Given the description of an element on the screen output the (x, y) to click on. 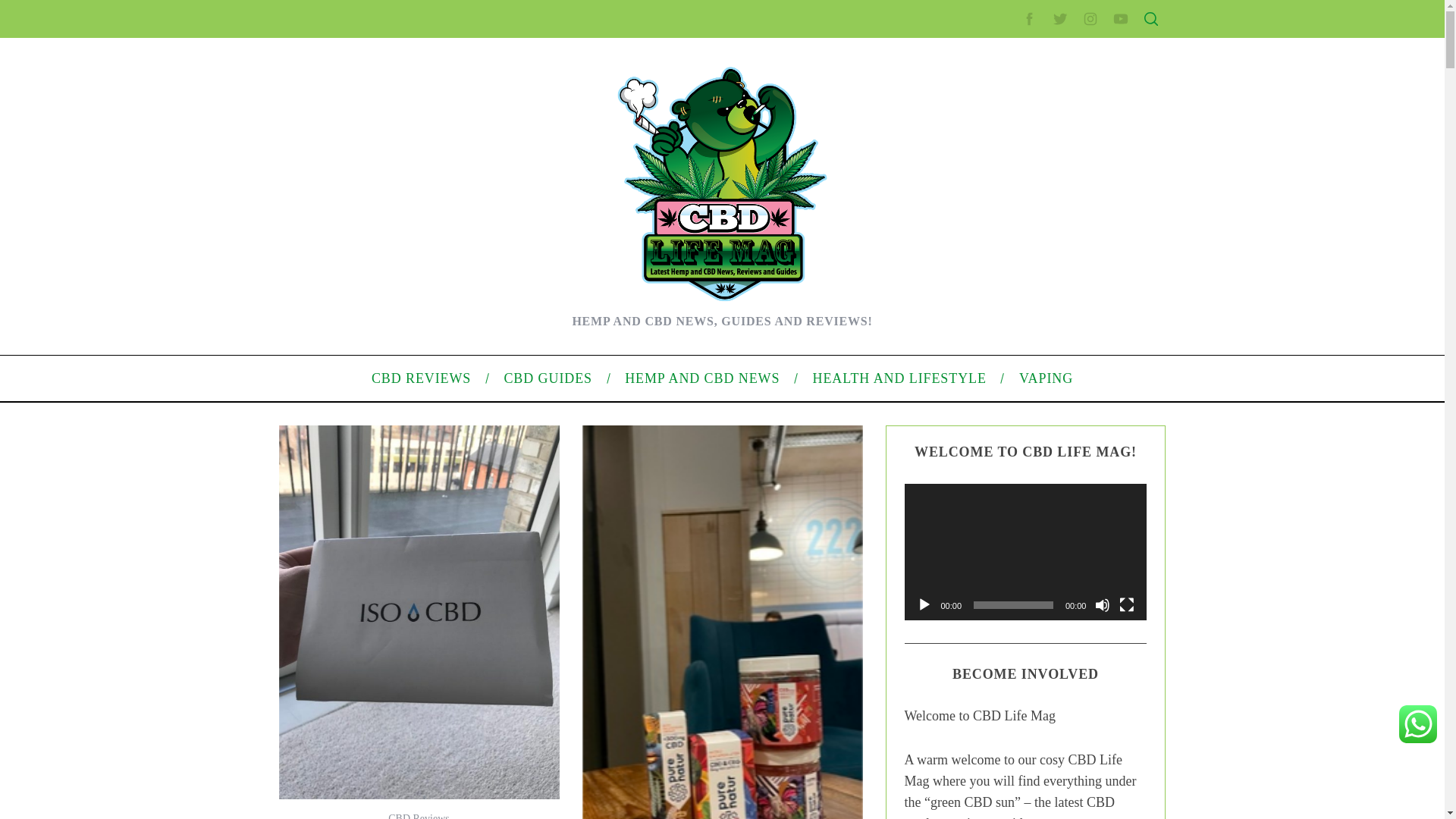
Blog (976, 510)
RSS (977, 612)
Terms of Use (996, 330)
look at here (548, 185)
Search for: (1049, 47)
ADMINISTRATOR (417, 81)
more tips here (747, 535)
Log in (980, 588)
Skip to content (34, 9)
DMCA Policy (996, 282)
Contact Us (991, 258)
Privacy Policy (999, 306)
Disclaimer (990, 354)
Search (1050, 85)
Search (1050, 85)
